Given the description of an element on the screen output the (x, y) to click on. 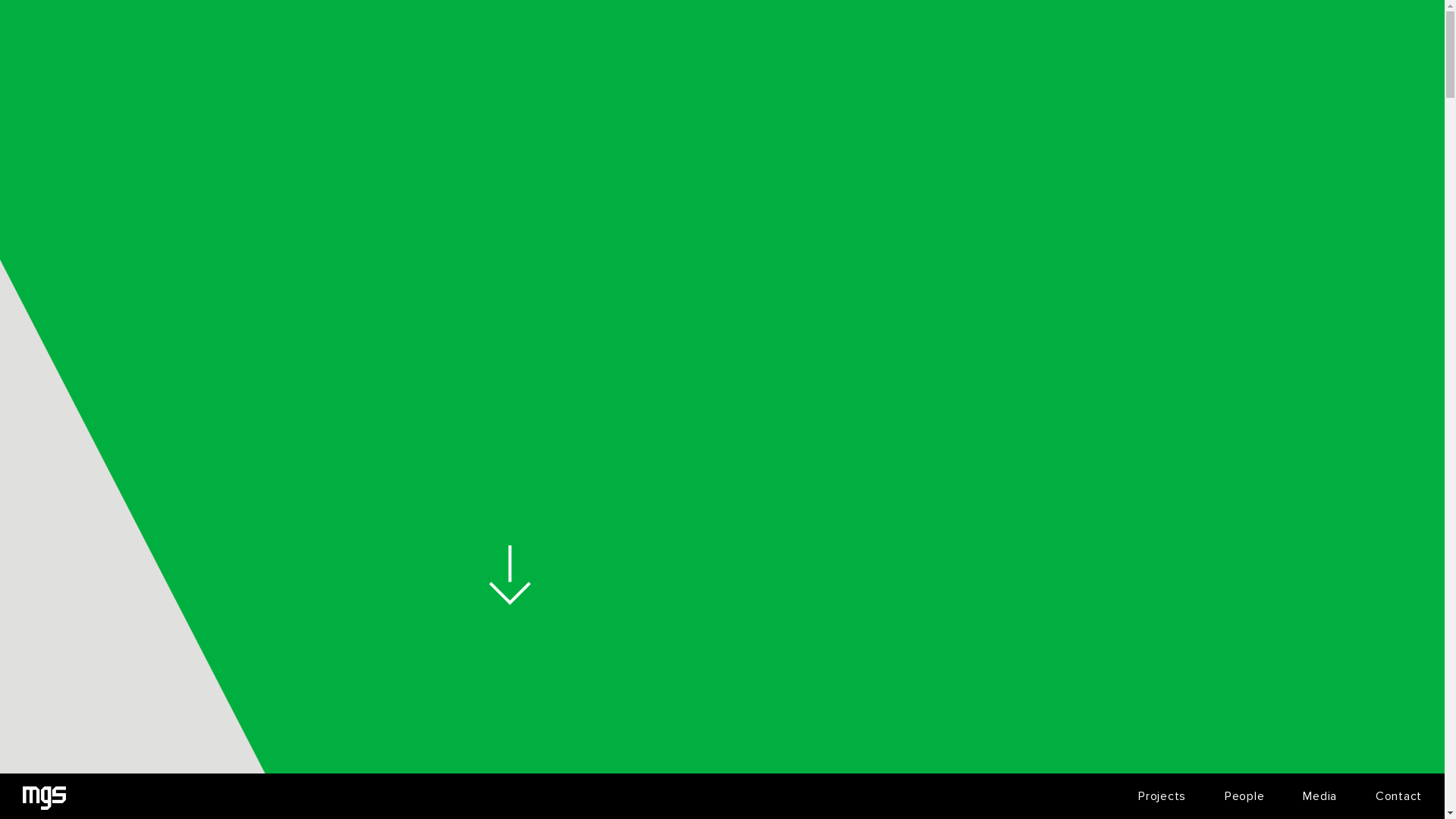
Media Element type: text (1319, 795)
People Element type: text (1244, 795)
  Element type: text (43, 797)
Contact Element type: text (1398, 795)
Projects Element type: text (1162, 795)
